Given the description of an element on the screen output the (x, y) to click on. 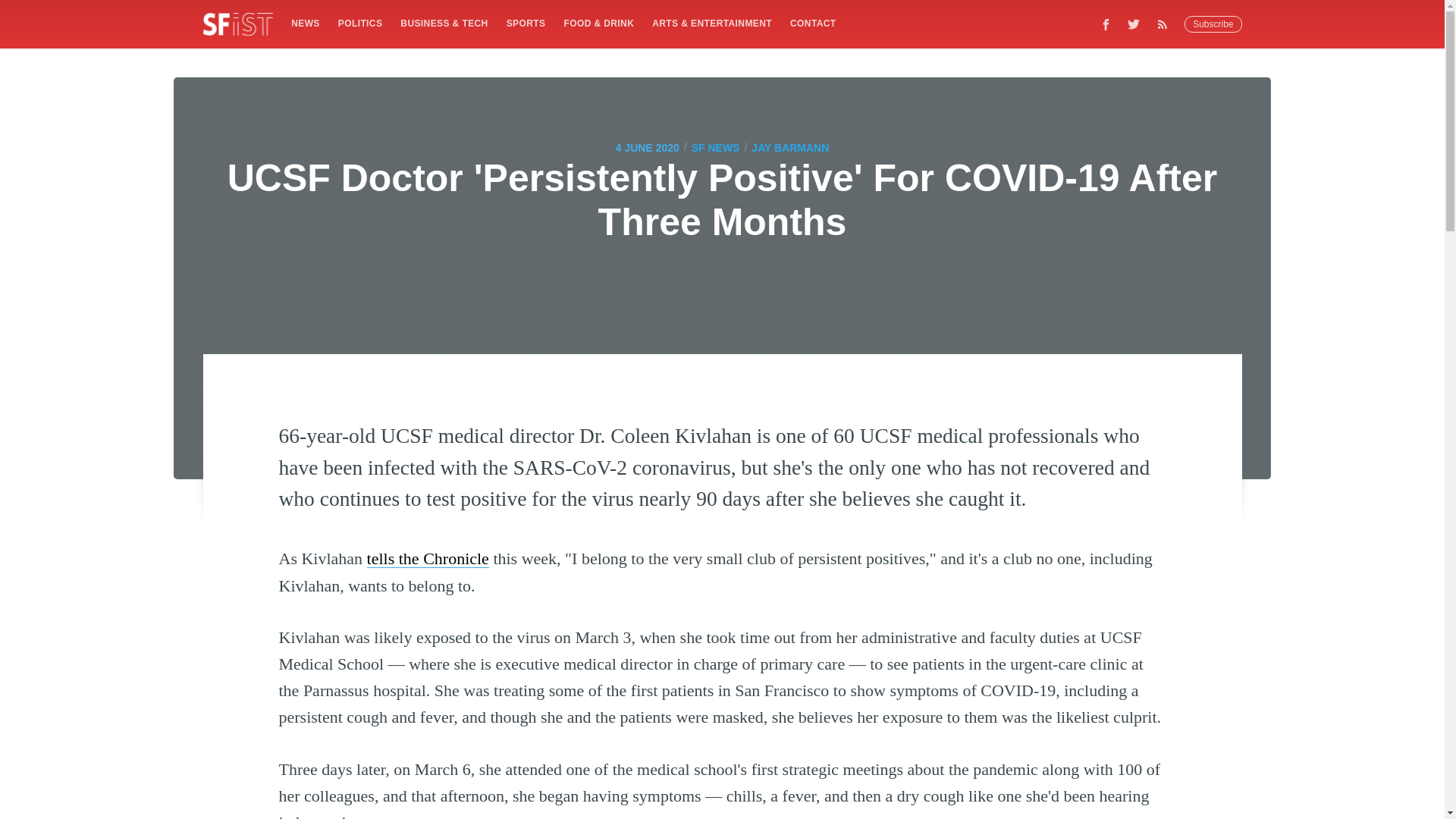
SF NEWS (715, 147)
Subscribe (1213, 23)
NEWS (305, 23)
JAY BARMANN (789, 147)
RSS (1166, 23)
tells the Chronicle (427, 558)
SPORTS (525, 23)
Twitter (1133, 23)
CONTACT (812, 23)
Facebook (1106, 23)
POLITICS (360, 23)
